Given the description of an element on the screen output the (x, y) to click on. 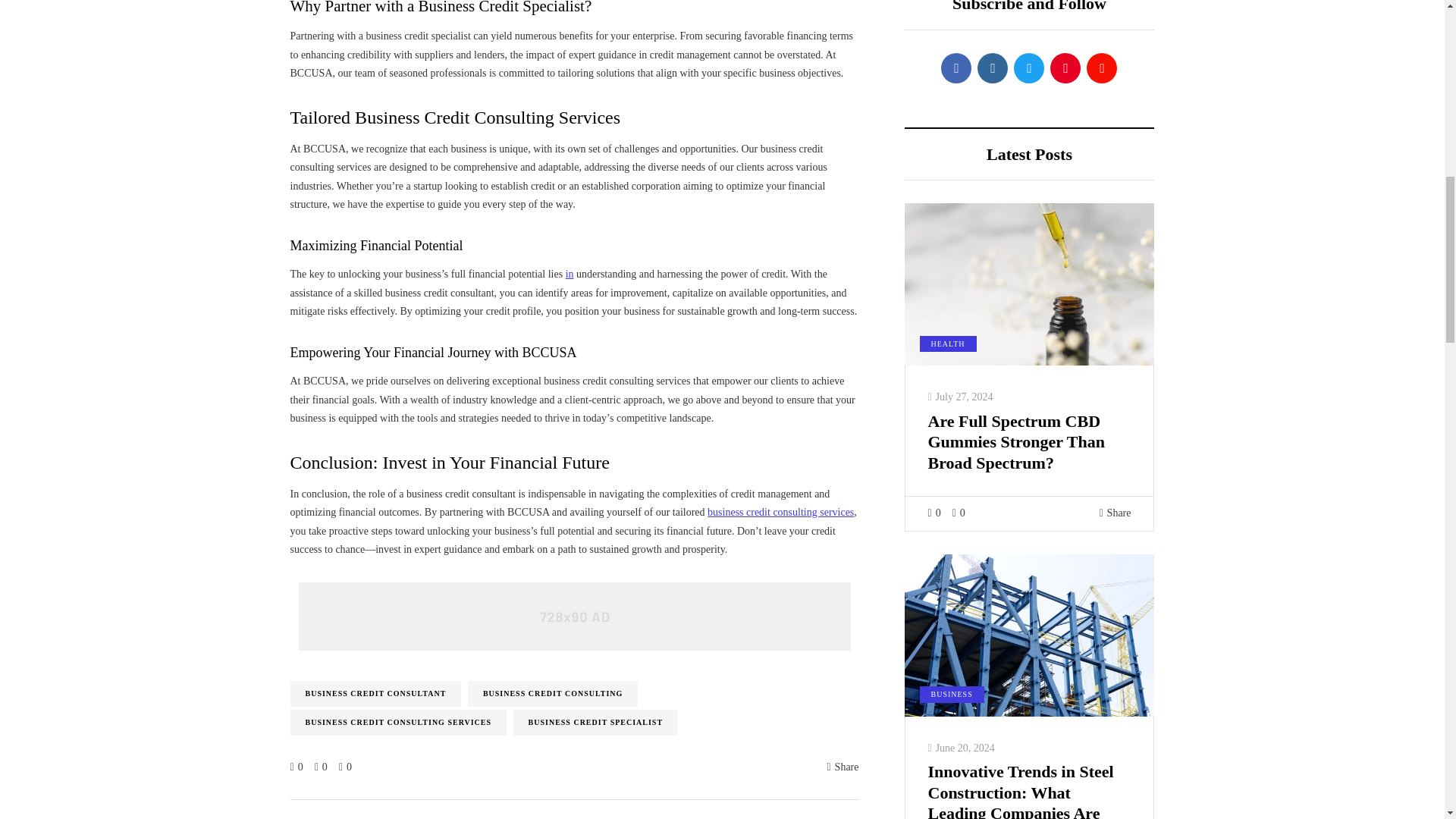
business credit consulting services (780, 511)
